Given the description of an element on the screen output the (x, y) to click on. 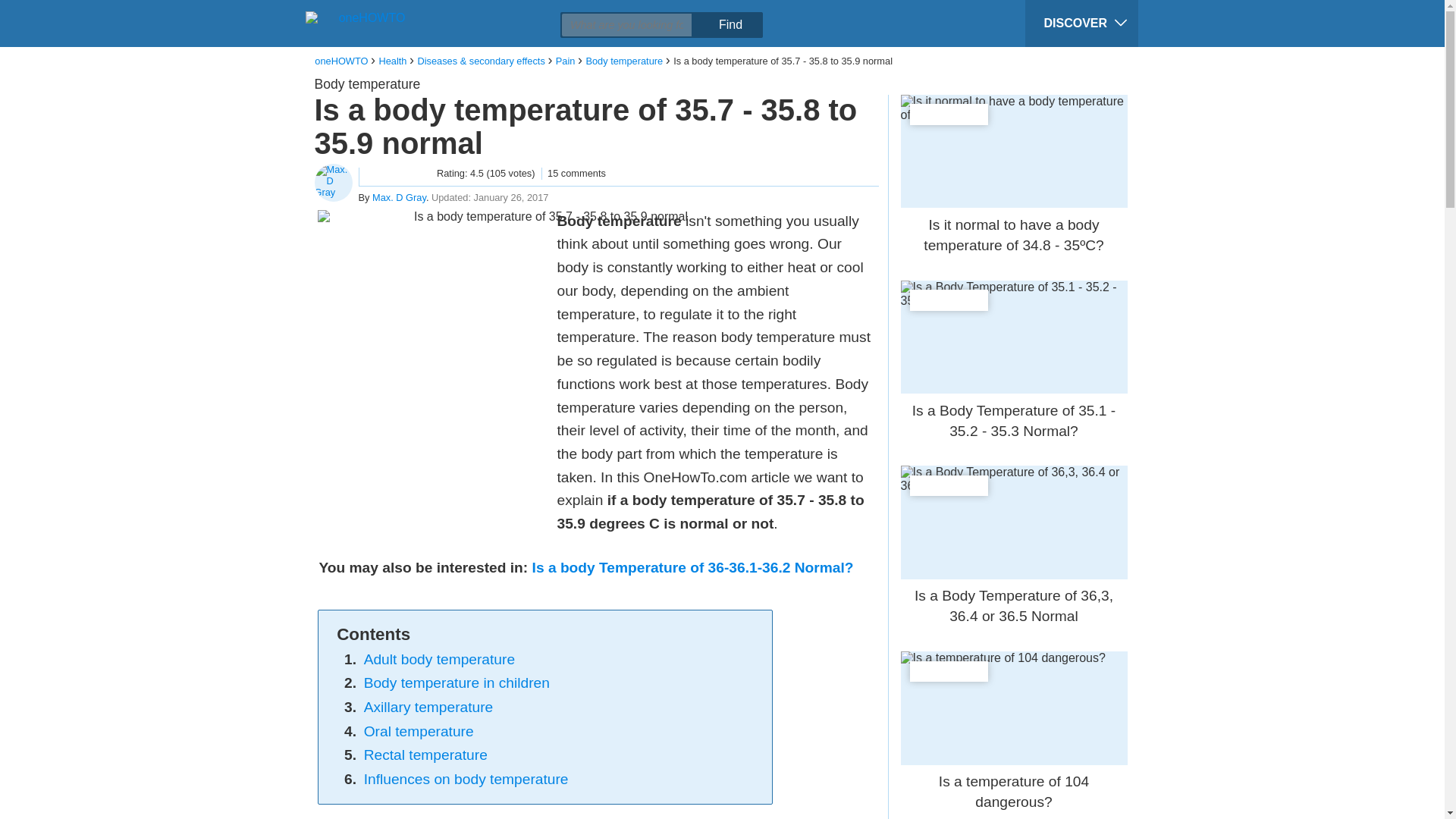
twitter (399, 12)
Find (729, 24)
whatsapp (456, 12)
Oral temperature (419, 731)
imprimir (485, 12)
Health (392, 60)
oneHOWTO (341, 60)
Pain (565, 60)
15 comments (573, 173)
pinterest (427, 12)
